Given the description of an element on the screen output the (x, y) to click on. 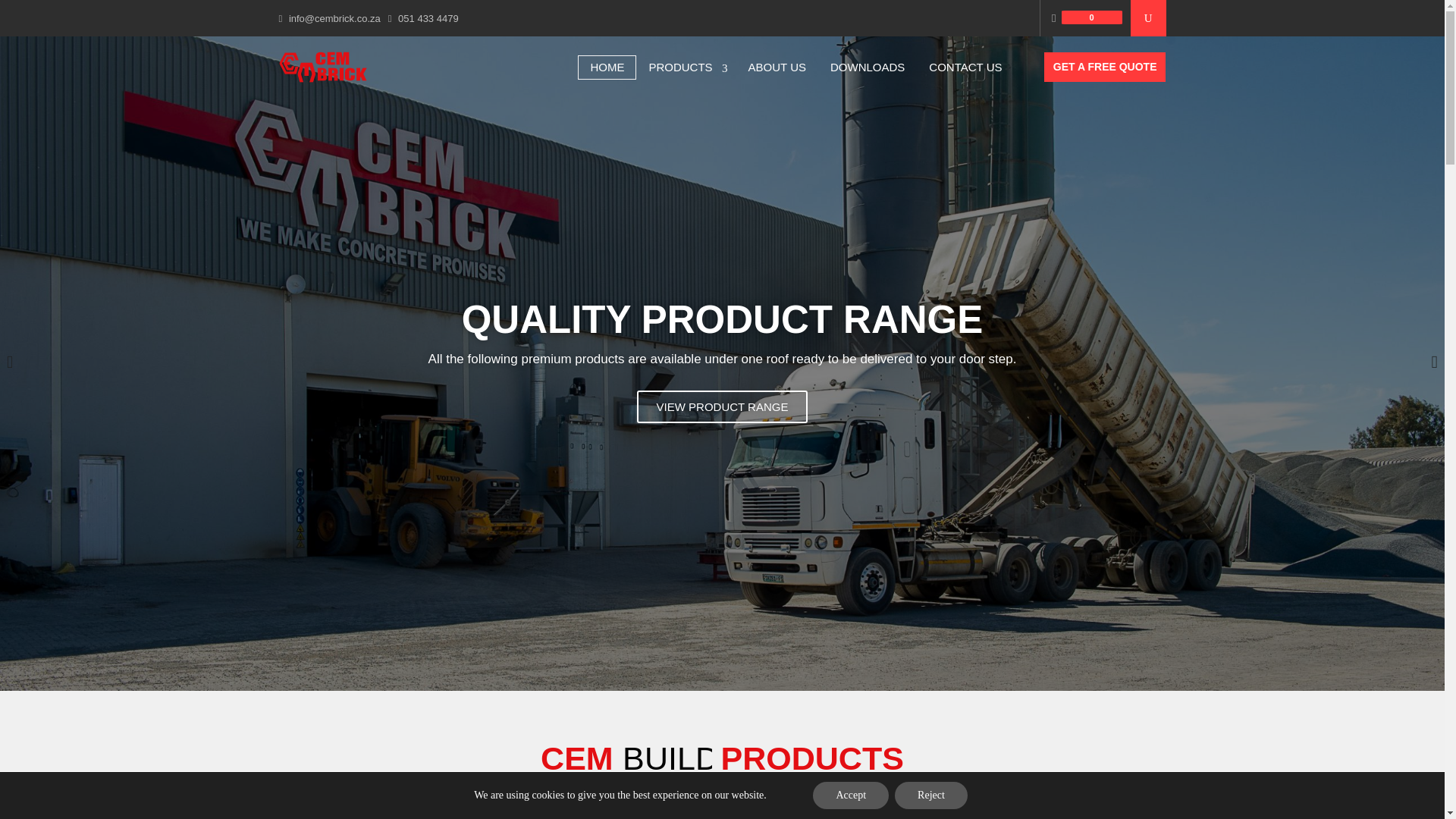
051 433 4479 (427, 18)
Search (49, 15)
0 (1086, 18)
